Given the description of an element on the screen output the (x, y) to click on. 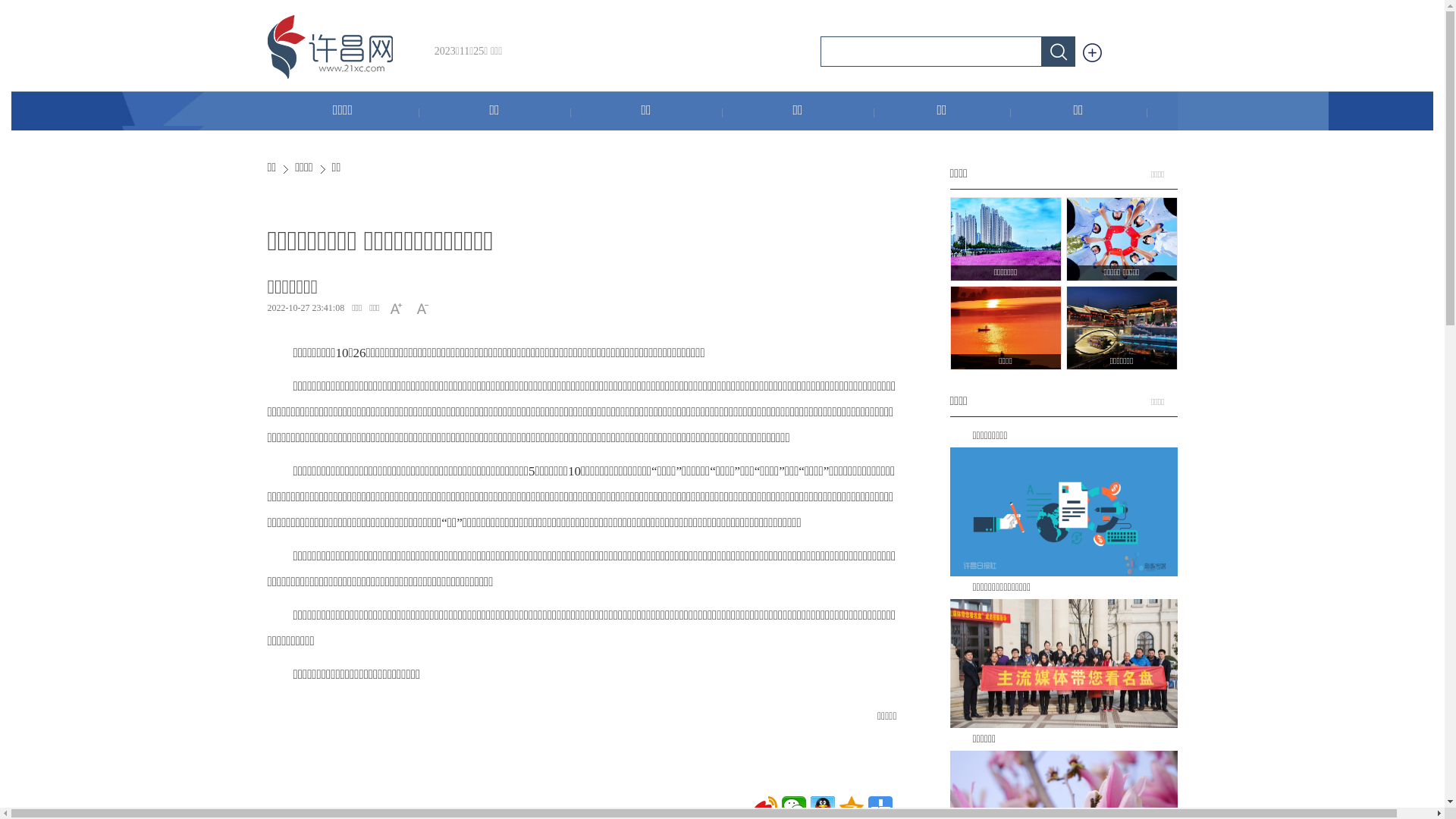
  Element type: text (1091, 52)
